Given the description of an element on the screen output the (x, y) to click on. 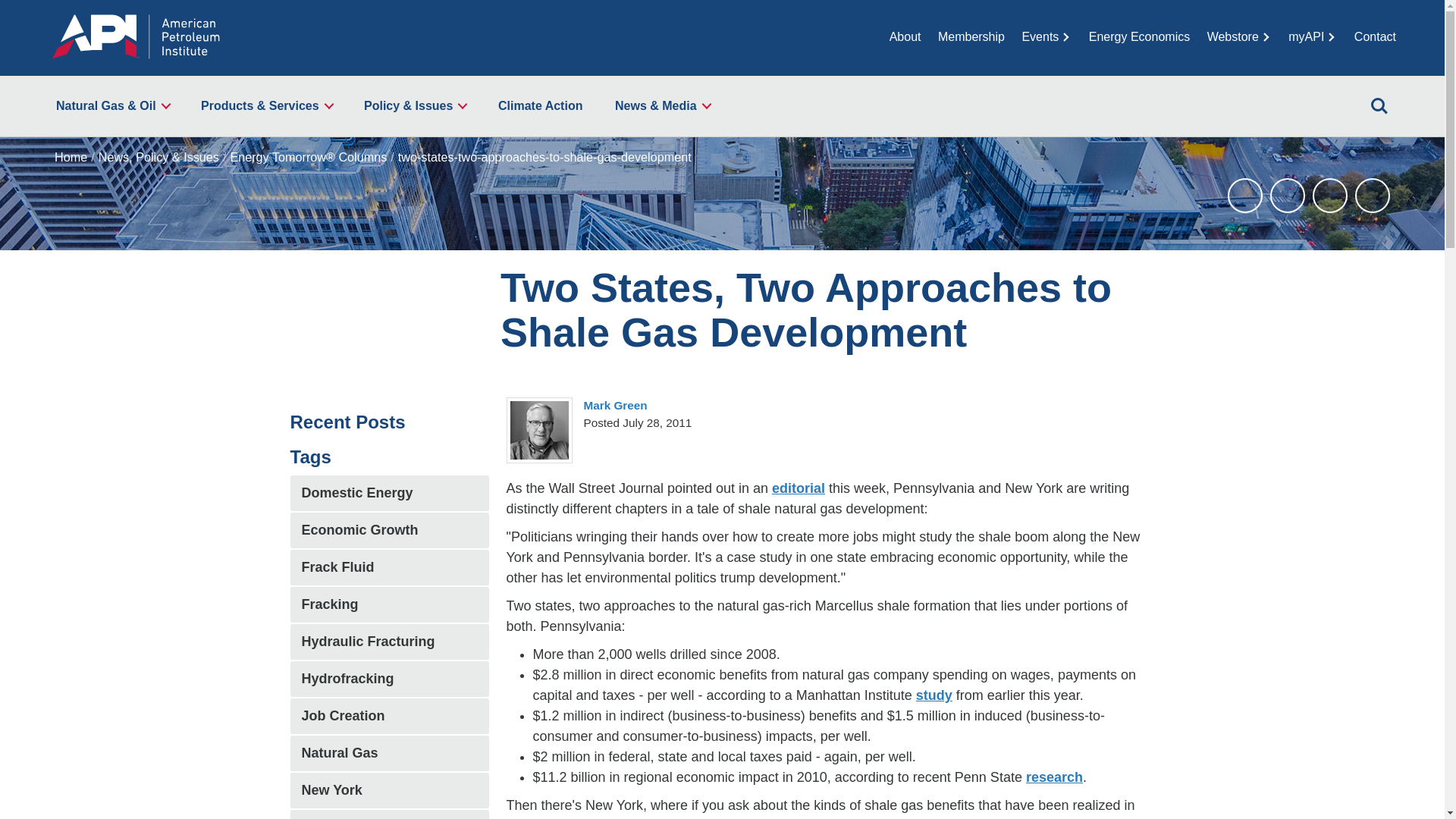
About (905, 36)
Energy Economics (1139, 36)
Membership (970, 36)
Events (1046, 36)
Webstore (1239, 36)
myAPI (1312, 36)
Contact (1375, 36)
